Given the description of an element on the screen output the (x, y) to click on. 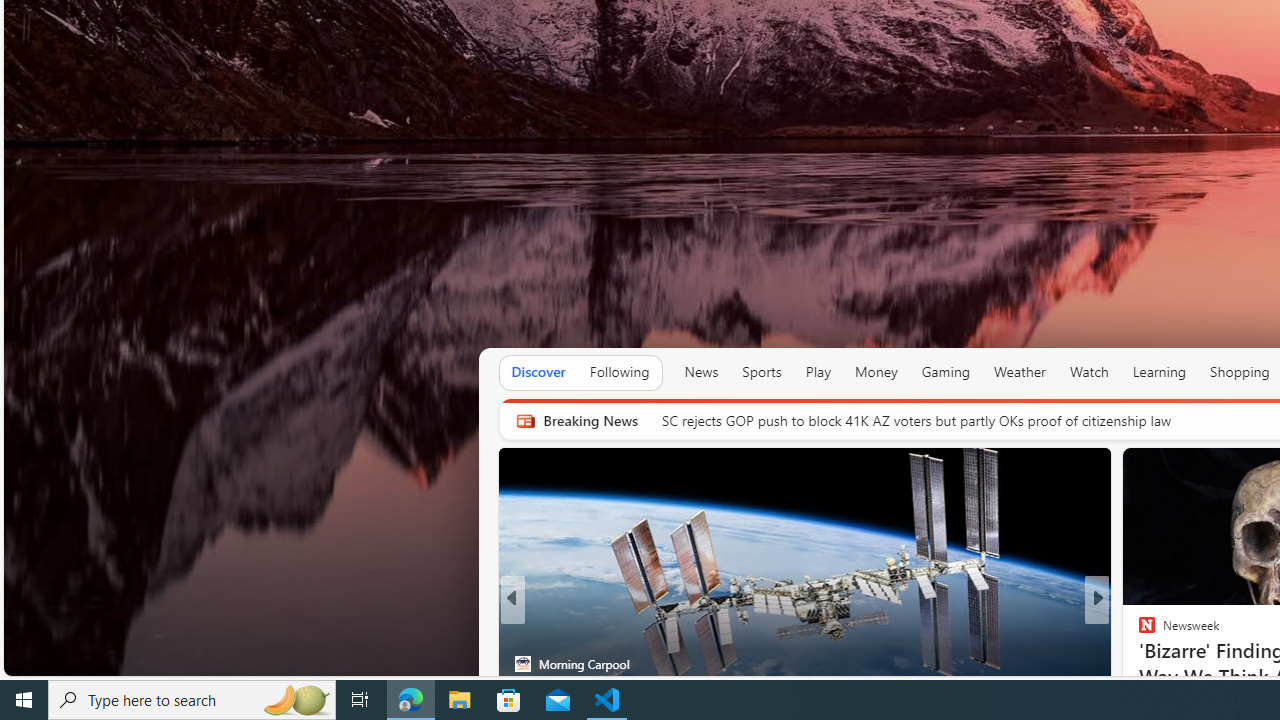
Retailshout (1138, 663)
essanews.com (1138, 632)
Kinda Frugal (1138, 632)
Shopping (1240, 371)
PC World (1138, 632)
